Given the description of an element on the screen output the (x, y) to click on. 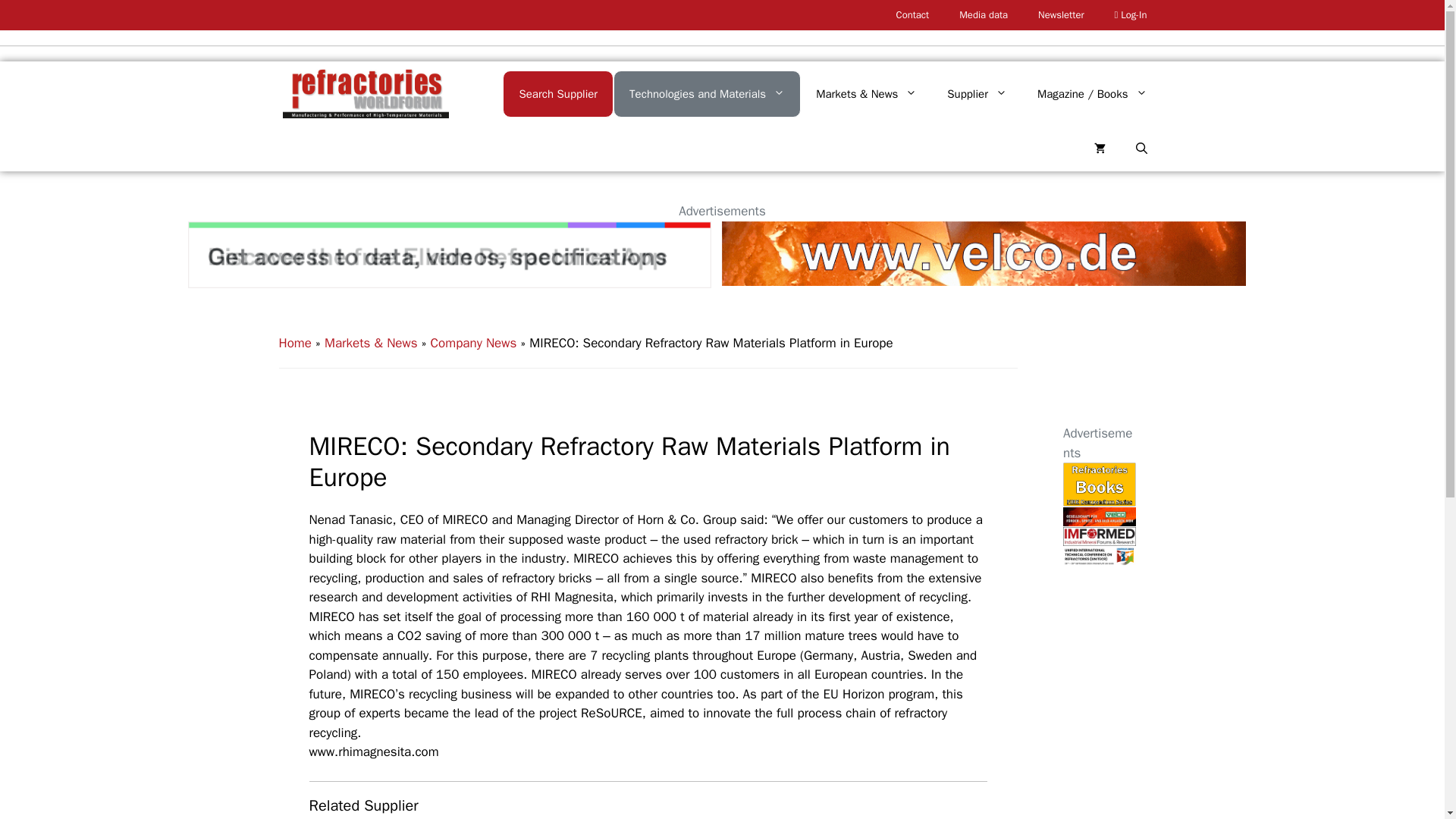
refractories WORLDFORUM (365, 93)
Contact (912, 15)
Media data (983, 15)
Log-In (1130, 15)
Search Supplier (557, 93)
View your shopping cart (1098, 148)
Technologies and Materials (706, 93)
Supplier (976, 94)
Newsletter (1061, 15)
